Given the description of an element on the screen output the (x, y) to click on. 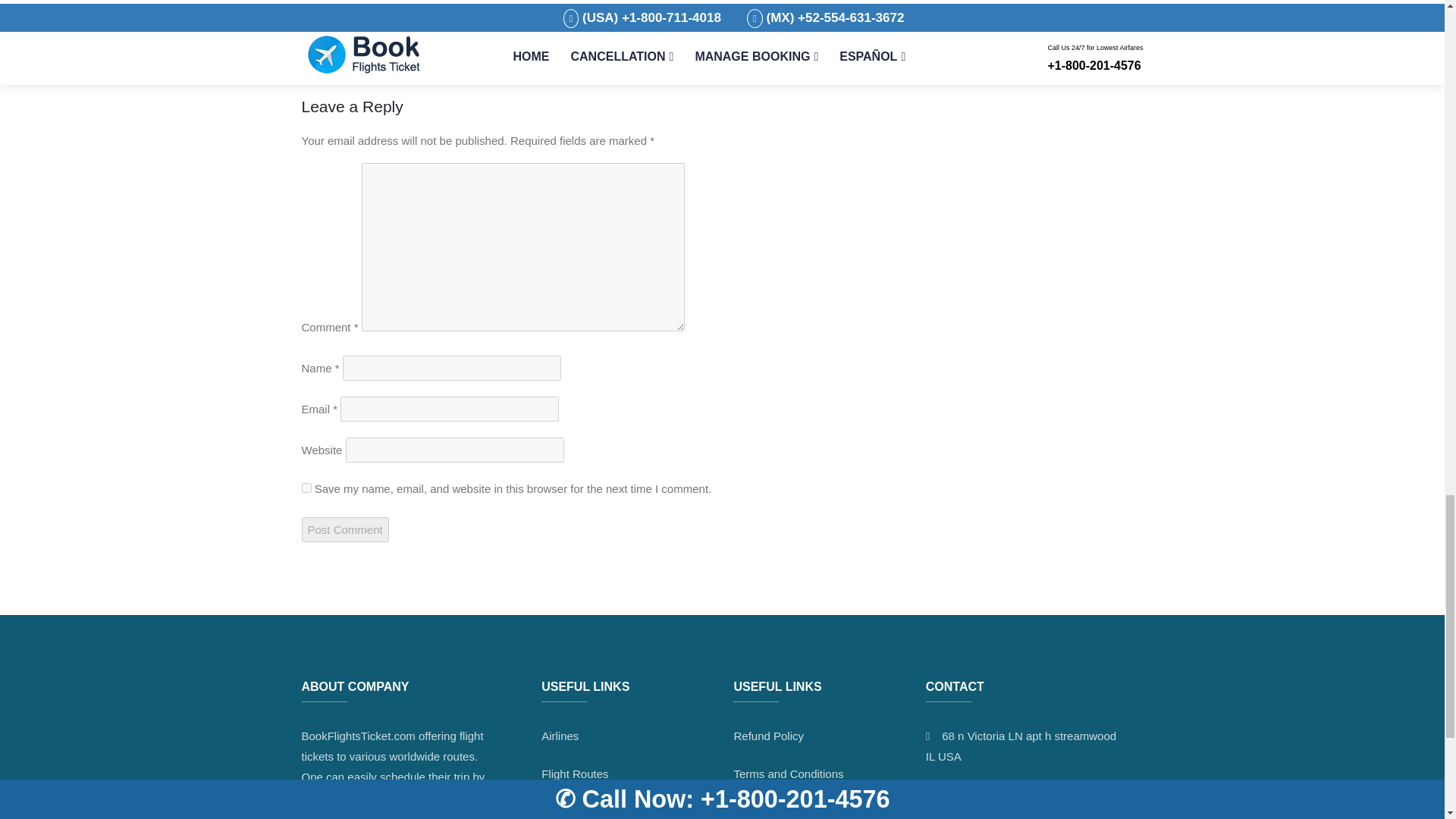
yes (306, 488)
Post Comment (344, 529)
Post Comment (344, 529)
Airlines (559, 735)
Refund Policy (768, 735)
Previous Page (353, 54)
Online Flights Ticket Booking (592, 812)
Flight Routes (574, 773)
Next Page (881, 54)
